Given the description of an element on the screen output the (x, y) to click on. 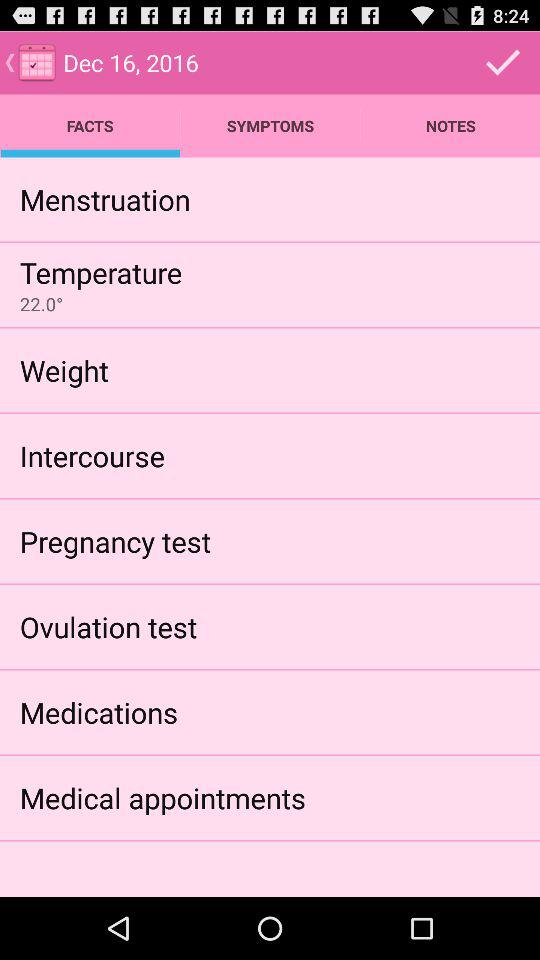
mark complete (503, 62)
